Given the description of an element on the screen output the (x, y) to click on. 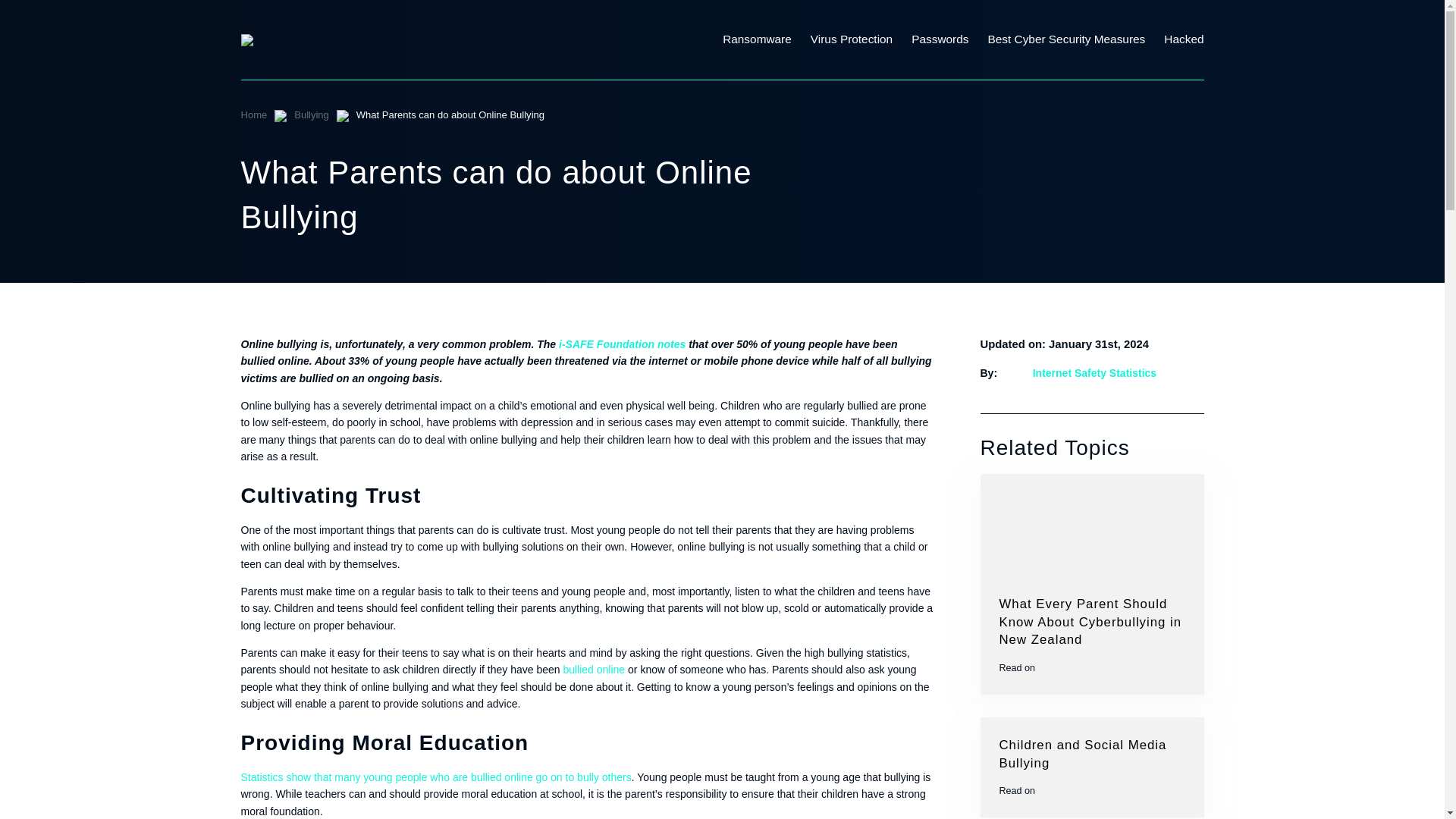
Ransomware (766, 39)
Bullying (311, 114)
Read on (1091, 790)
Hacked (1183, 39)
Virus Protection (860, 39)
Best Cyber Security Measures (1075, 39)
Read on (1091, 667)
Home (254, 114)
